Given the description of an element on the screen output the (x, y) to click on. 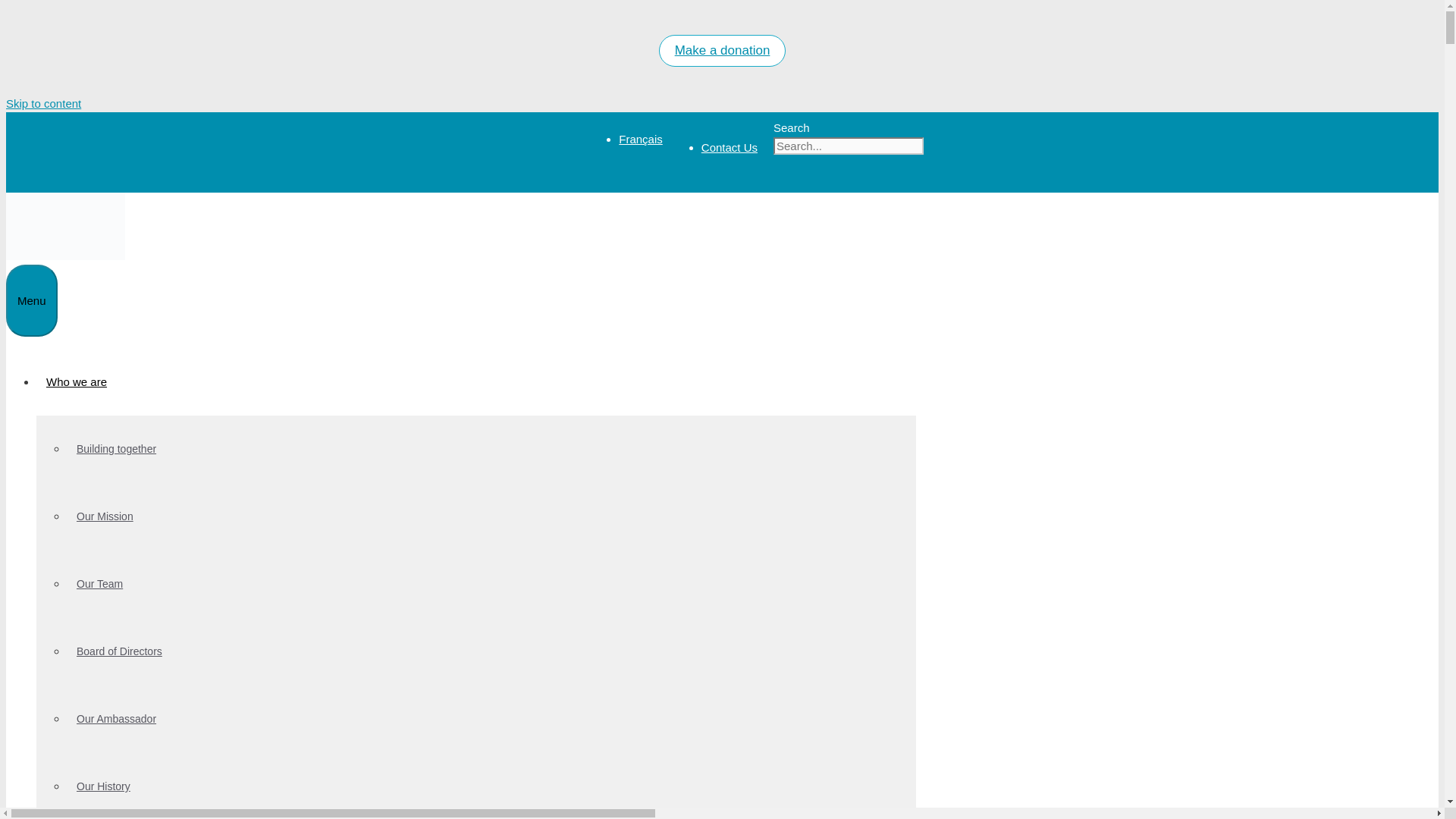
Our Team (99, 583)
Who we are (81, 381)
Skip to content (43, 103)
Our Ambassador (115, 718)
Building together (115, 448)
Make a donation (722, 50)
Make a donation (722, 50)
Board of Directors (118, 651)
Our History (102, 786)
Contact Us (729, 146)
